Given the description of an element on the screen output the (x, y) to click on. 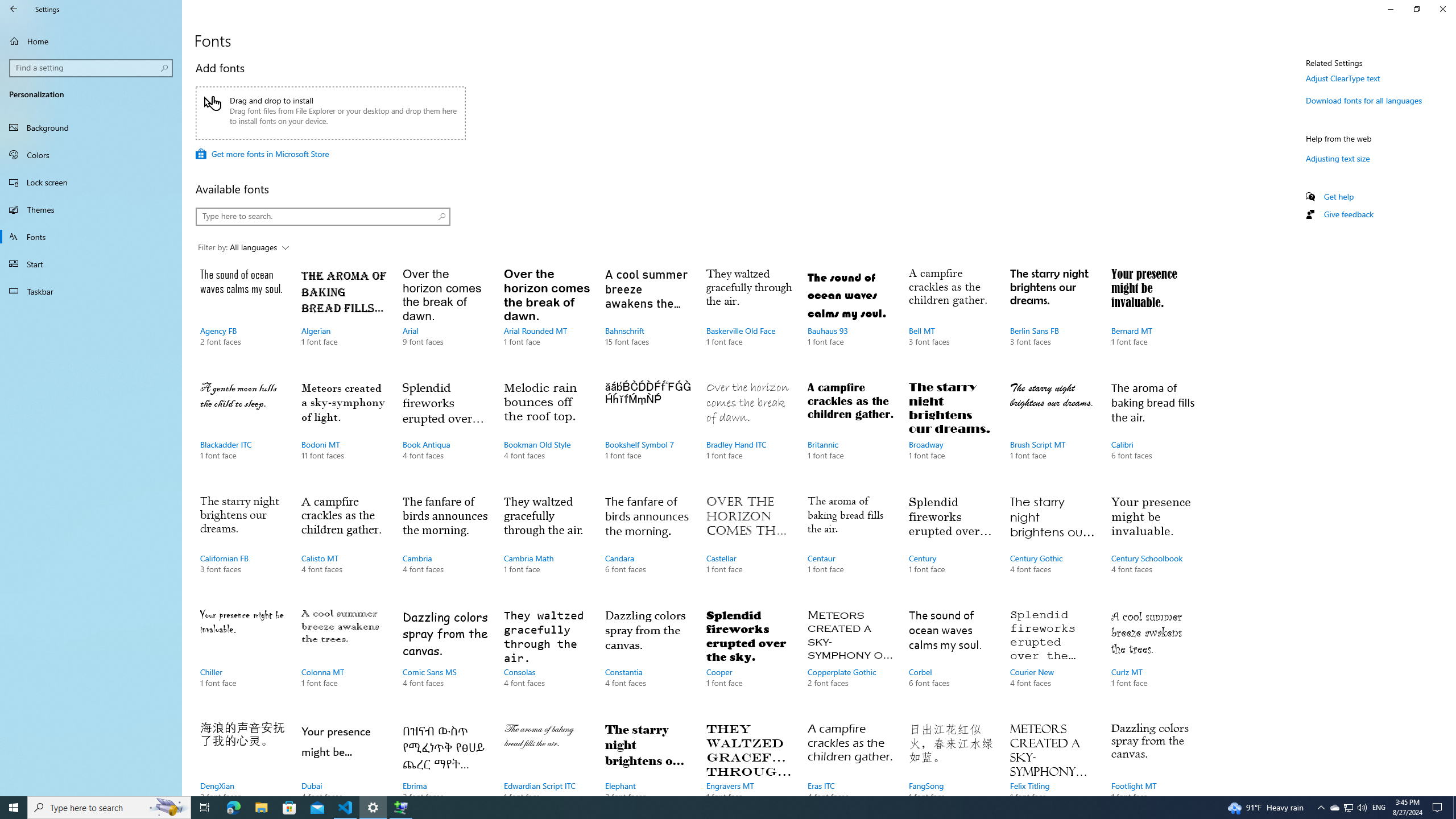
Type here to search. (323, 216)
Back (13, 9)
Bodoni MT, 11 font faces (343, 431)
Colonna MT, 1 font face (343, 659)
Ebrima, 2 font faces (445, 756)
Consolas, 4 font faces (545, 659)
Lock screen (91, 181)
Minimize Settings (1390, 9)
Engravers MT, 1 font face (748, 756)
Corbel, 6 font faces (951, 659)
Candara, 6 font faces (647, 545)
Book Antiqua, 4 font faces (445, 431)
